Given the description of an element on the screen output the (x, y) to click on. 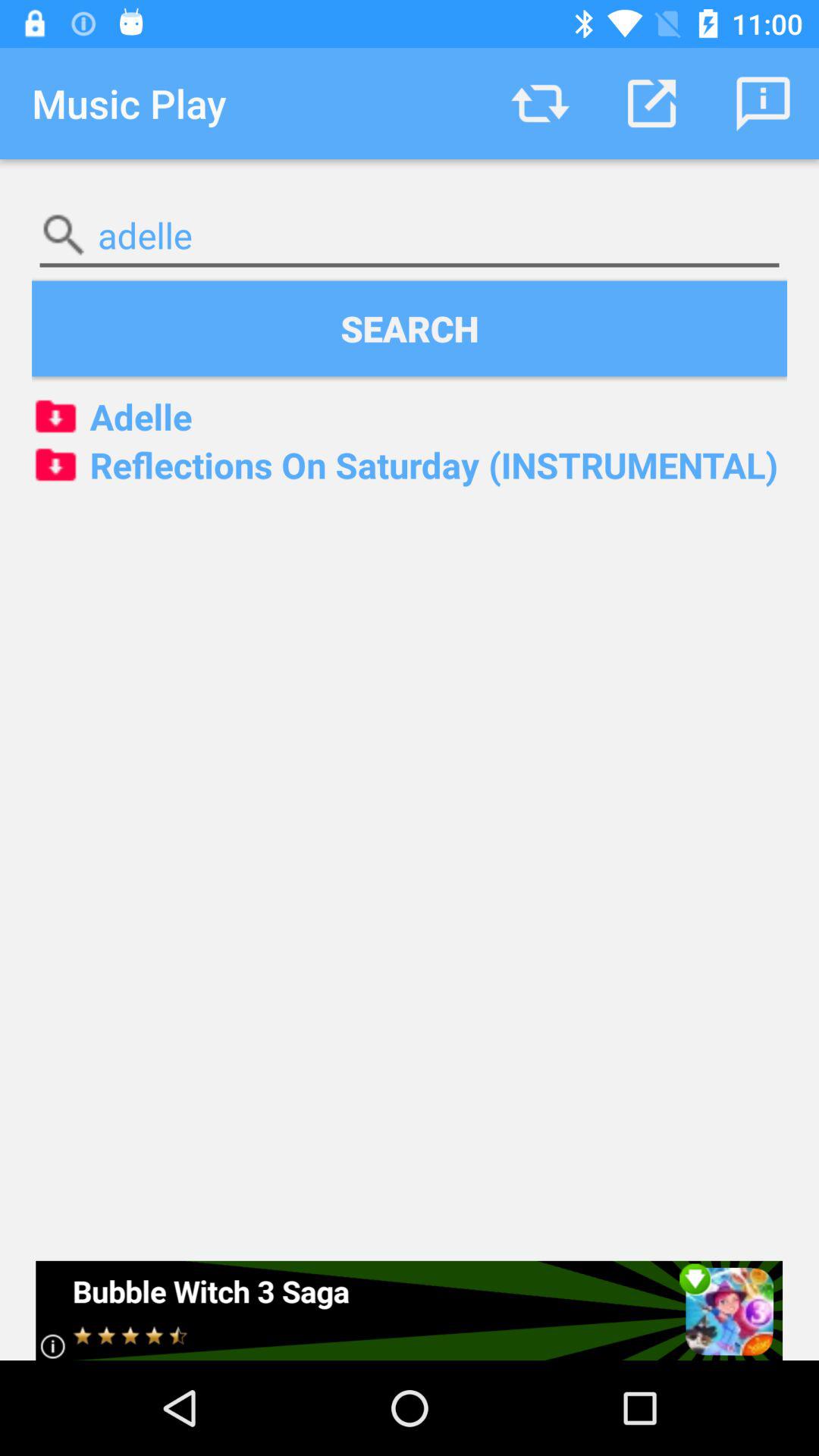
open the search item (409, 328)
